Given the description of an element on the screen output the (x, y) to click on. 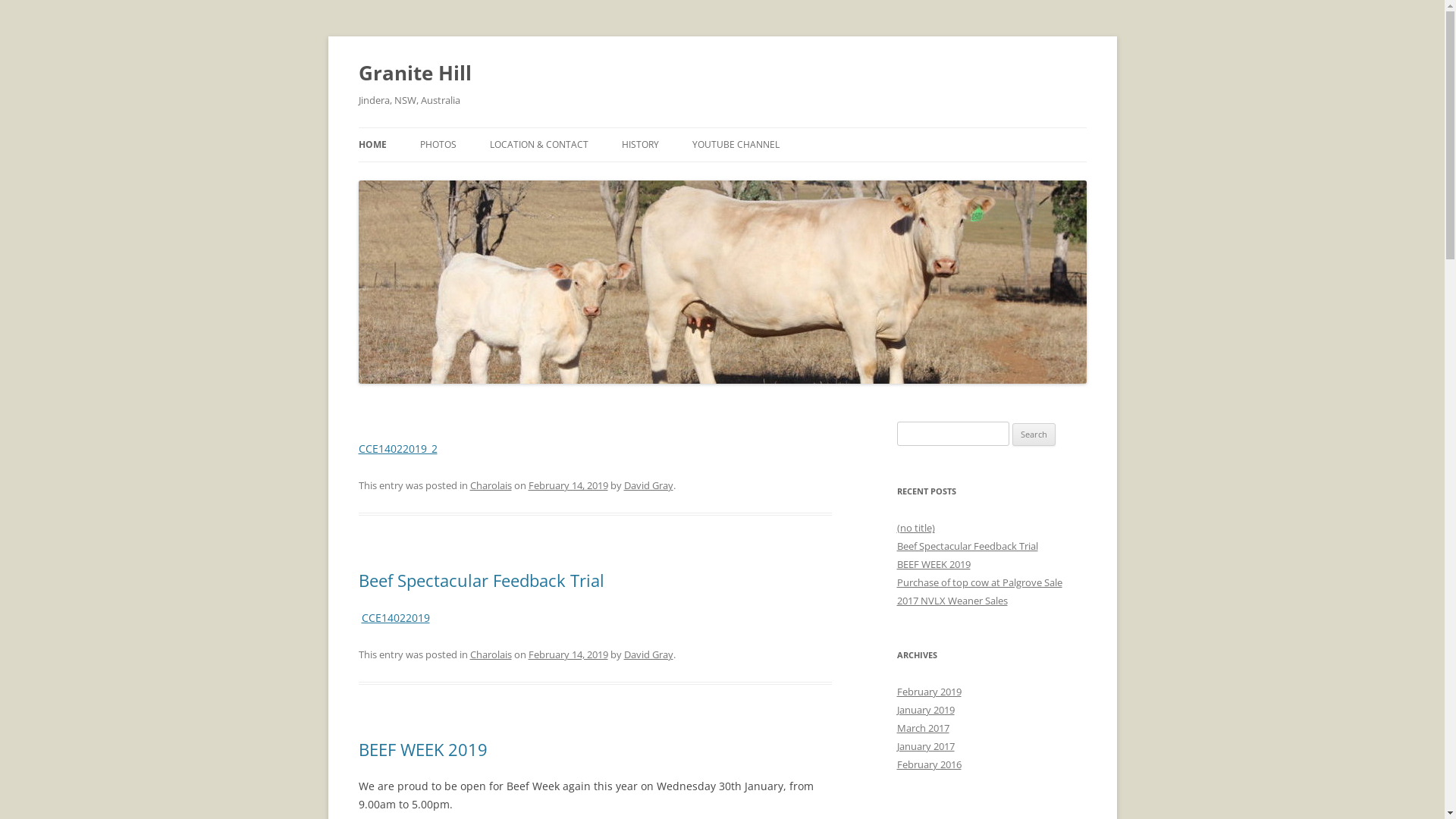
HOME Element type: text (371, 144)
YOUTUBE CHANNEL Element type: text (734, 144)
David Gray Element type: text (647, 485)
January 2017 Element type: text (924, 746)
January 2019 Element type: text (924, 709)
2017 NVLX Weaner Sales Element type: text (951, 600)
February 14, 2019 Element type: text (567, 485)
Charolais Element type: text (490, 654)
Purchase of top cow at Palgrove Sale Element type: text (978, 582)
David Gray Element type: text (647, 654)
PHOTOS Element type: text (438, 144)
Granite Hill Element type: text (413, 72)
Skip to content Element type: text (759, 132)
February 2019 Element type: text (928, 691)
(no title) Element type: text (915, 527)
BEEF WEEK 2019 Element type: text (932, 564)
CCE14022019_2 Element type: text (396, 448)
Beef Spectacular Feedback Trial Element type: text (480, 579)
BEEF WEEK 2019 Element type: text (421, 748)
February 14, 2019 Element type: text (567, 654)
February 2016 Element type: text (928, 764)
March 2017 Element type: text (922, 727)
Search Element type: text (1033, 434)
HISTORY Element type: text (639, 144)
CCE14022019 Element type: text (394, 617)
Beef Spectacular Feedback Trial Element type: text (966, 545)
Charolais Element type: text (490, 485)
LOCATION & CONTACT Element type: text (538, 144)
